Given the description of an element on the screen output the (x, y) to click on. 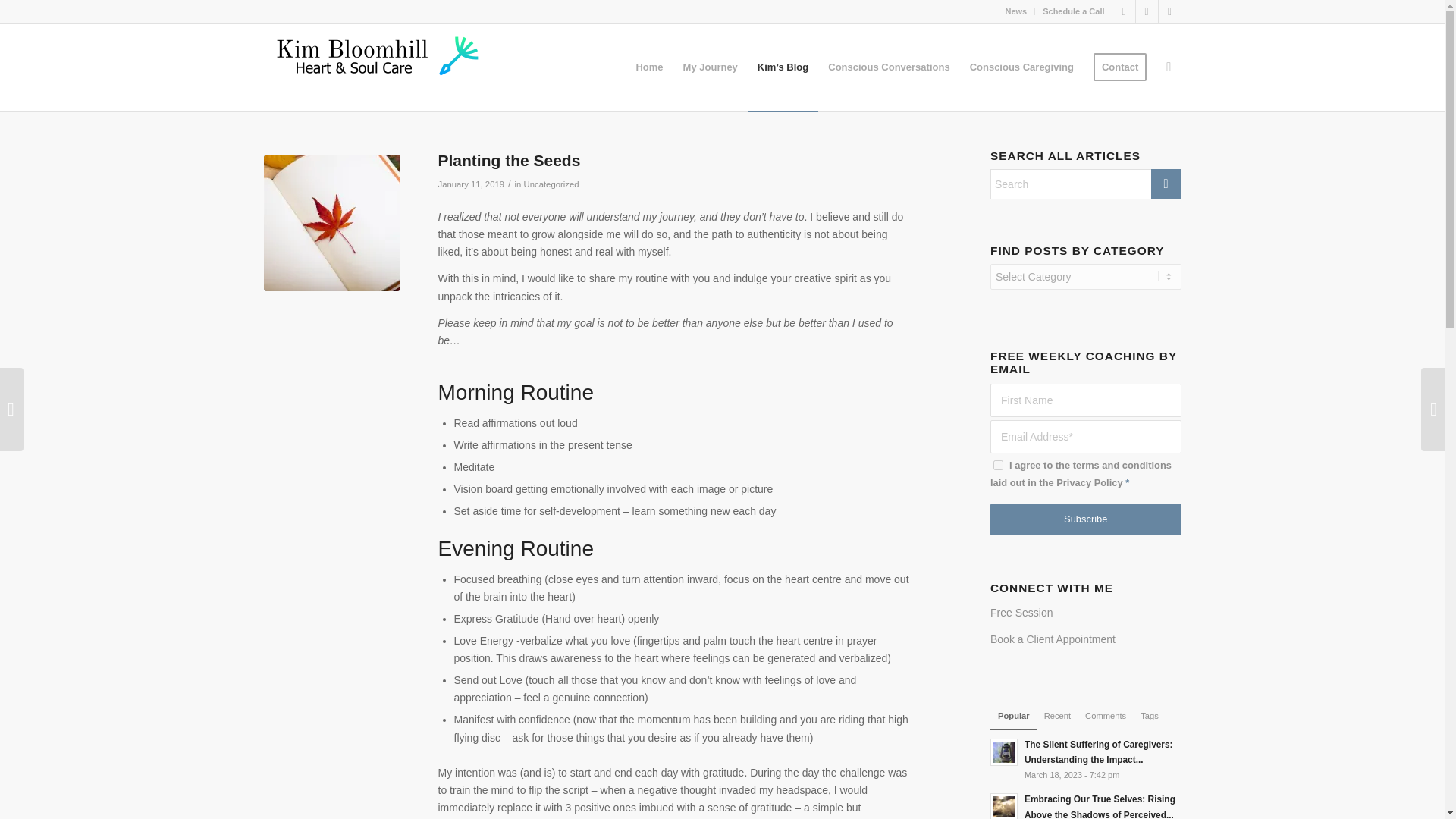
Mail (1169, 11)
Schedule a Call (1072, 11)
Facebook (1124, 11)
LinkedIn (1146, 11)
Uncategorized (551, 184)
Subscribe (1085, 519)
true (997, 465)
News (1015, 11)
Conscious Caregiving (1021, 67)
book-plant-leaf-flower-petal-reading-906441-pxhere.com (331, 222)
